Given the description of an element on the screen output the (x, y) to click on. 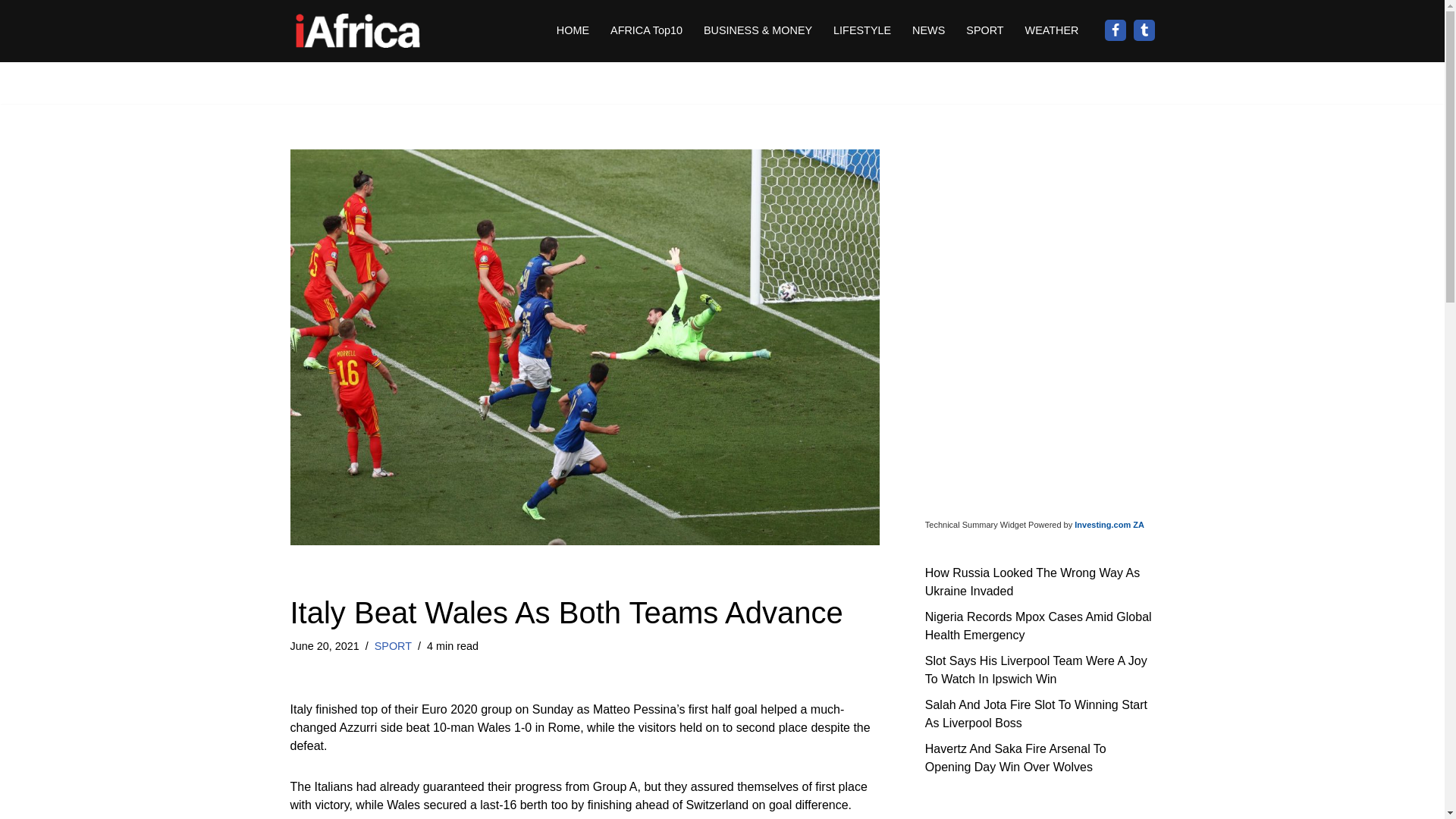
Salah And Jota Fire Slot To Winning Start As Liverpool Boss (1035, 712)
How Russia Looked The Wrong Way As Ukraine Invaded (1032, 581)
AFRICA Top10 (646, 30)
Nigeria Records Mpox Cases Amid Global Health Emergency (1037, 624)
Facebook (1114, 29)
SPORT (393, 645)
Havertz And Saka Fire Arsenal To Opening Day Win Over Wolves (1015, 757)
SPORT (984, 30)
NEWS (928, 30)
